Given the description of an element on the screen output the (x, y) to click on. 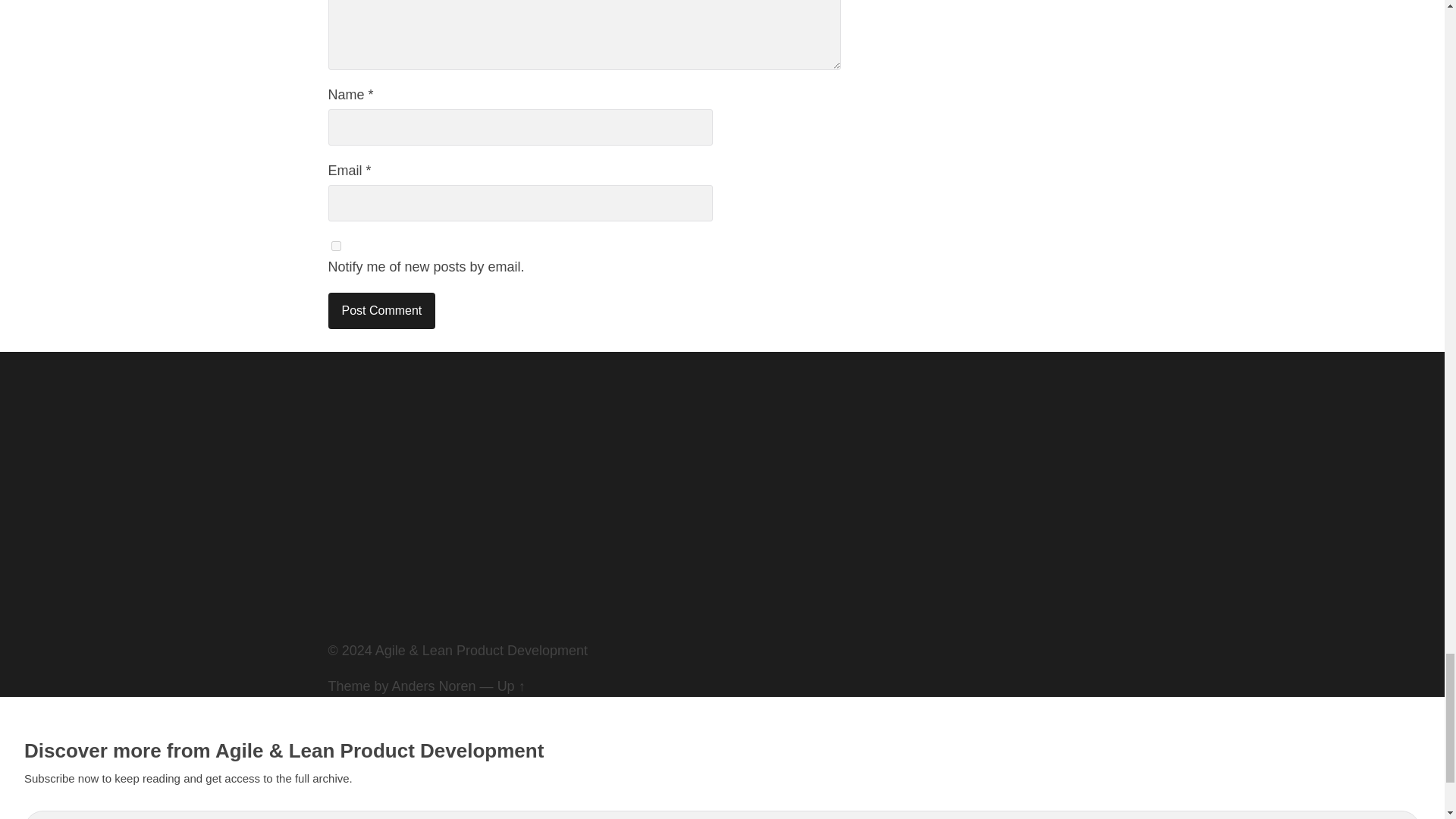
Post Comment (381, 310)
To the top (511, 685)
subscribe (335, 245)
Post Comment (381, 310)
